Given the description of an element on the screen output the (x, y) to click on. 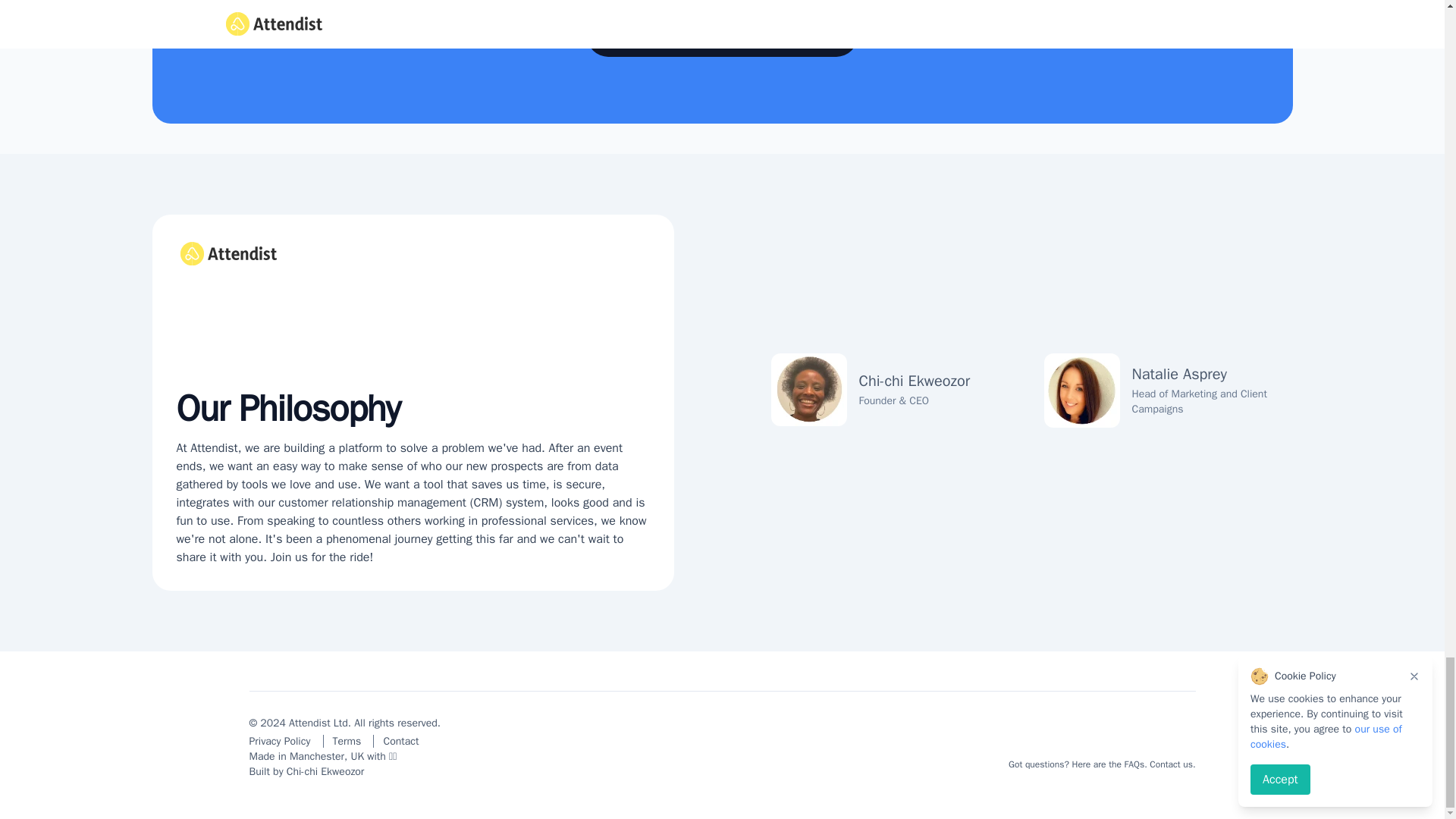
Contact us (1171, 764)
Privacy Policy (284, 740)
FAQs (1134, 764)
Terms (348, 740)
Chi-chi Ekweozor (325, 771)
Contact (400, 740)
